Given the description of an element on the screen output the (x, y) to click on. 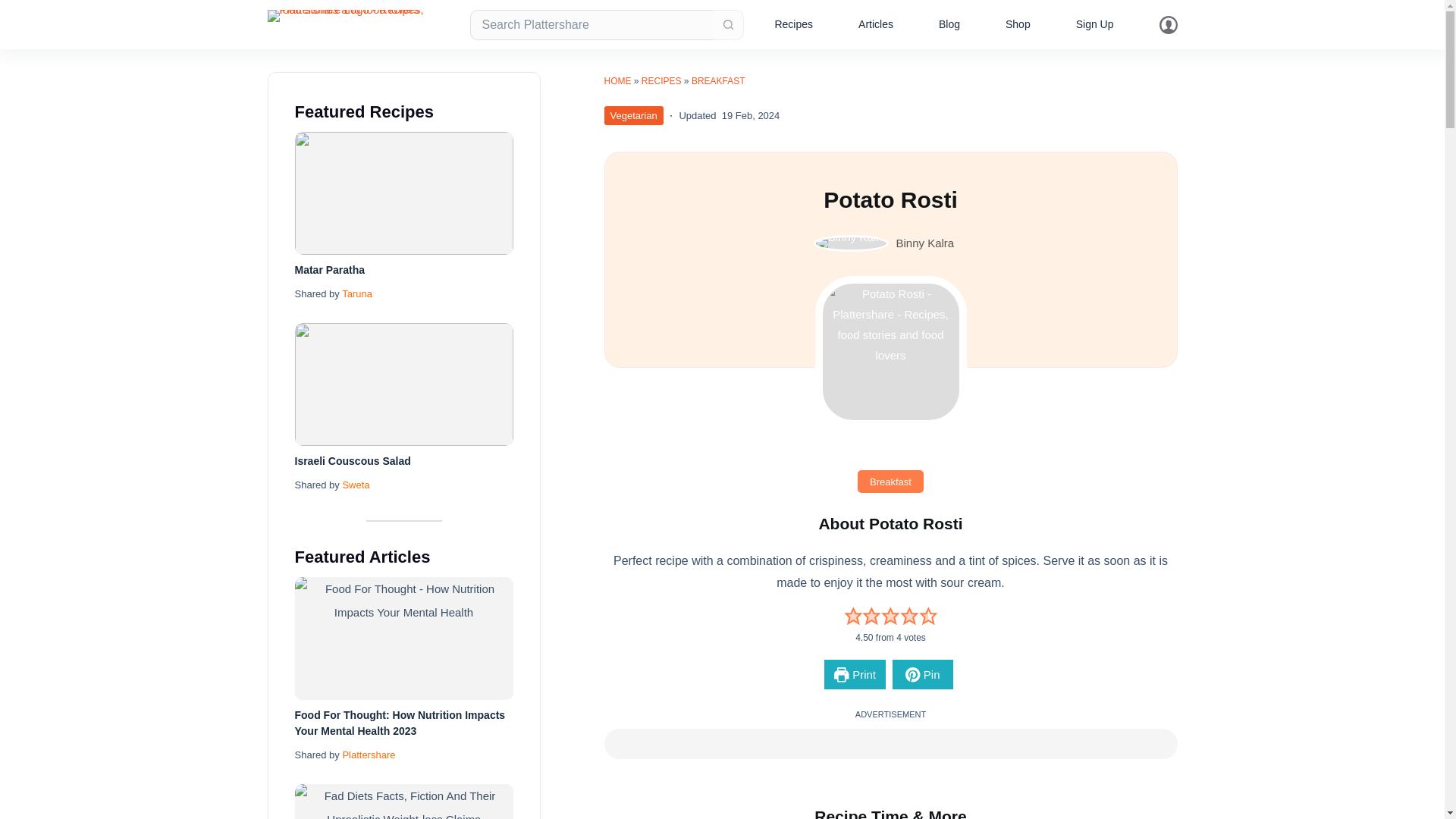
Articles (875, 24)
Recipes (793, 24)
Sign Up (1094, 24)
Print (854, 674)
RECIPES (661, 81)
Breakfast (890, 481)
HOME (617, 81)
Skip to content (15, 7)
Search for... (592, 24)
